Given the description of an element on the screen output the (x, y) to click on. 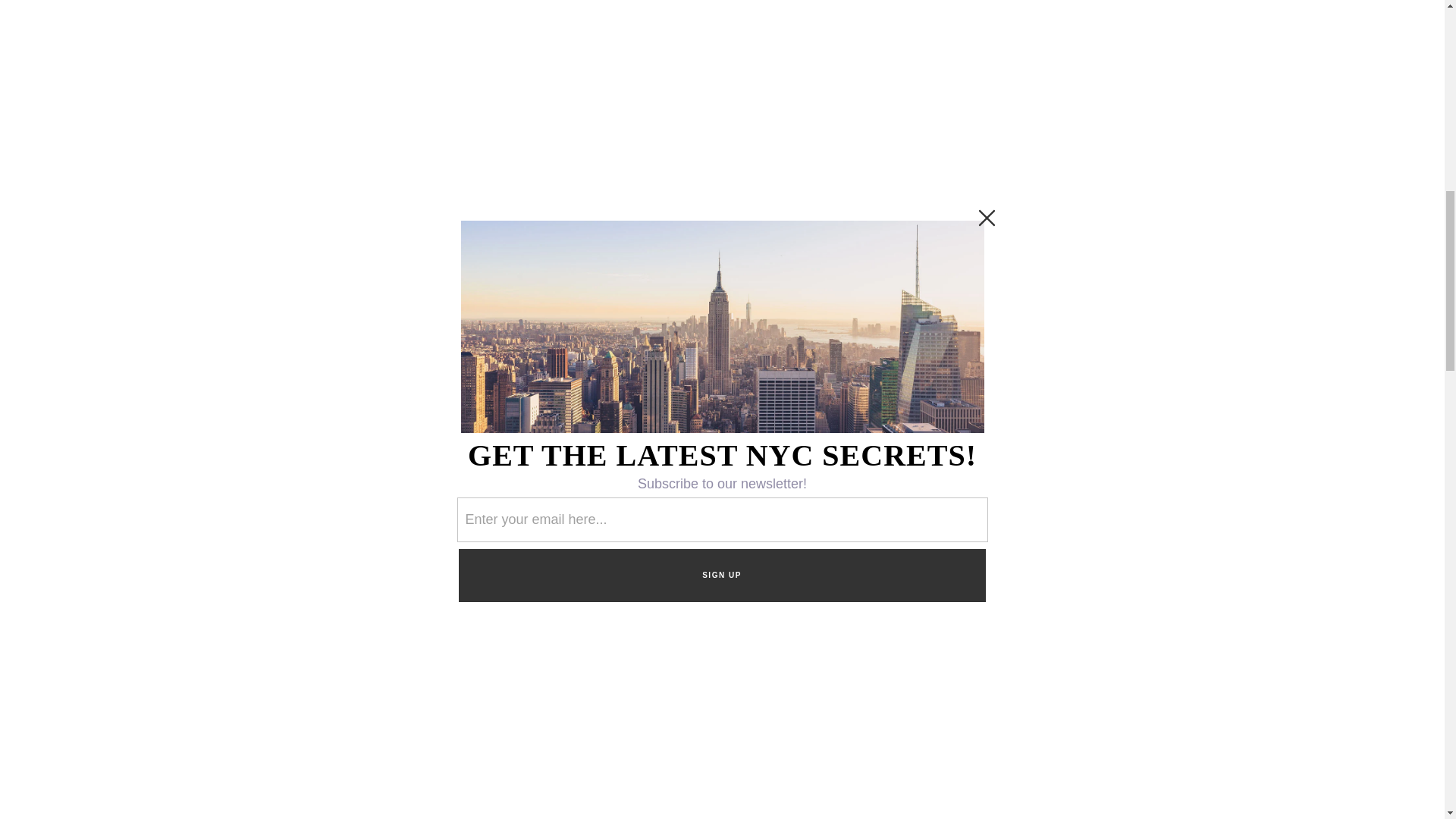
FareHarbor (1342, 64)
